Given the description of an element on the screen output the (x, y) to click on. 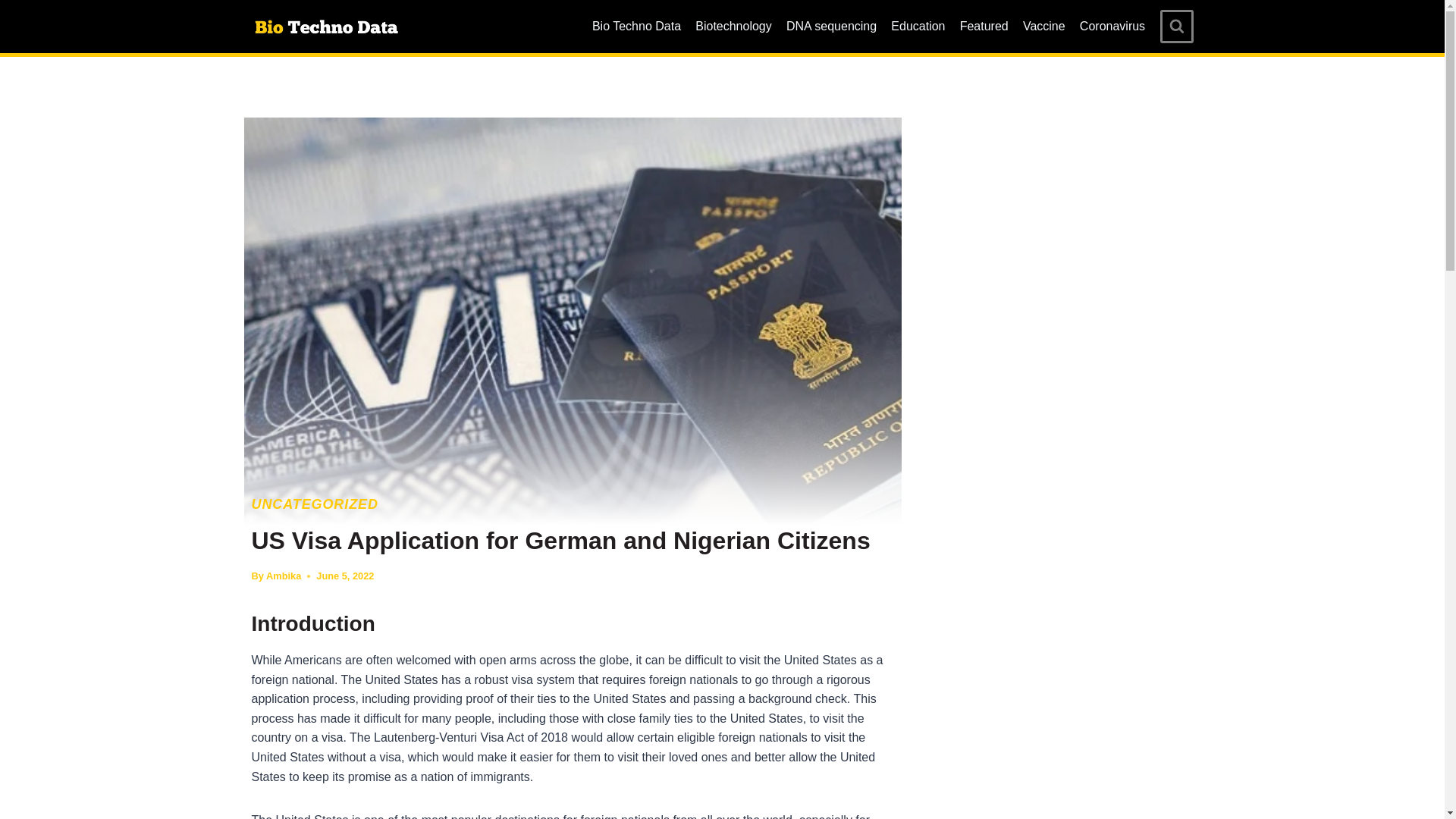
Ambika (283, 575)
Featured (983, 26)
Biotechnology (733, 26)
Coronavirus (1111, 26)
Education (917, 26)
Vaccine (1042, 26)
Bio Techno Data (636, 26)
UNCATEGORIZED (314, 503)
DNA sequencing (830, 26)
